Given the description of an element on the screen output the (x, y) to click on. 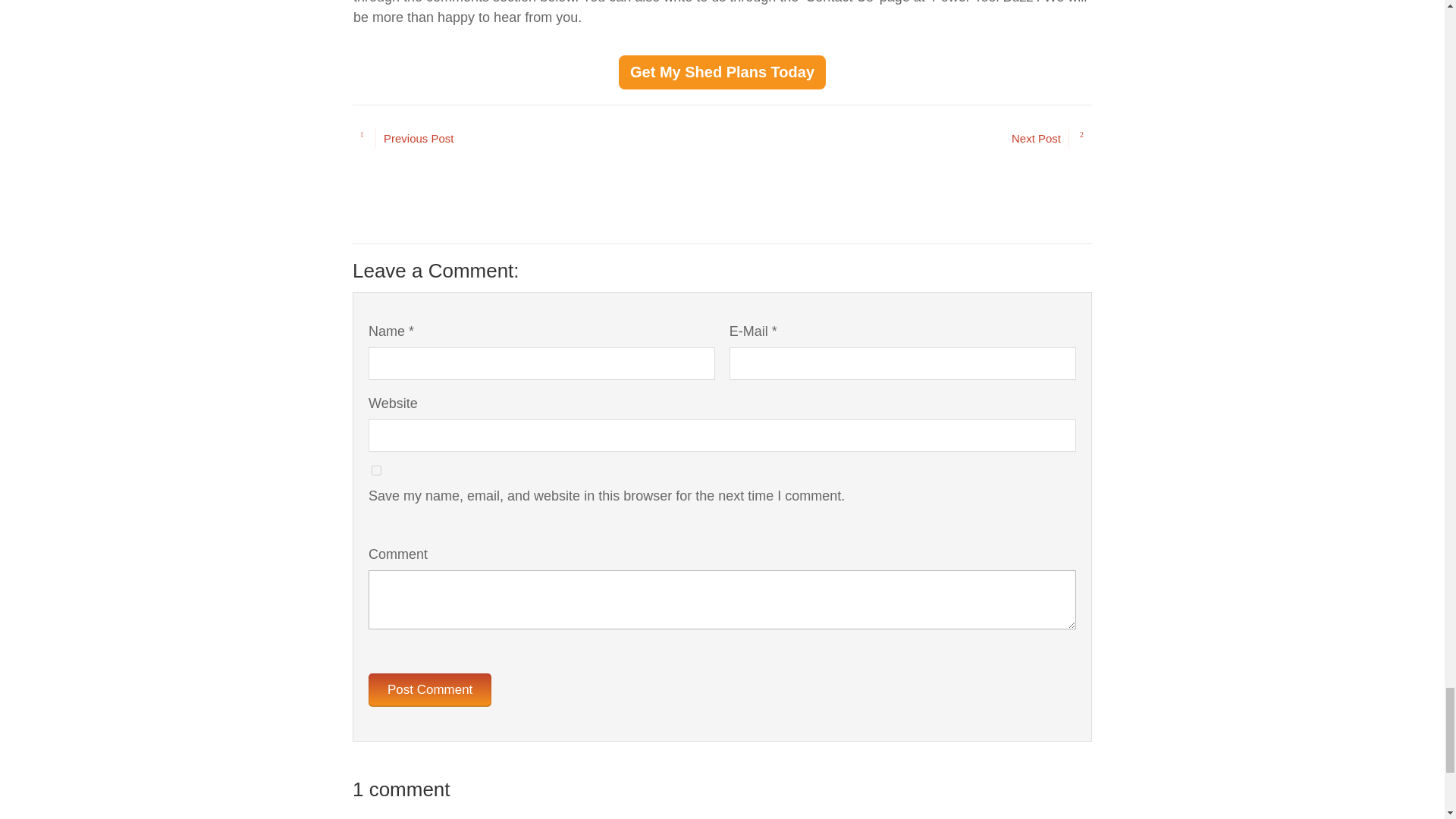
yes (376, 470)
Post Comment (430, 689)
